Given the description of an element on the screen output the (x, y) to click on. 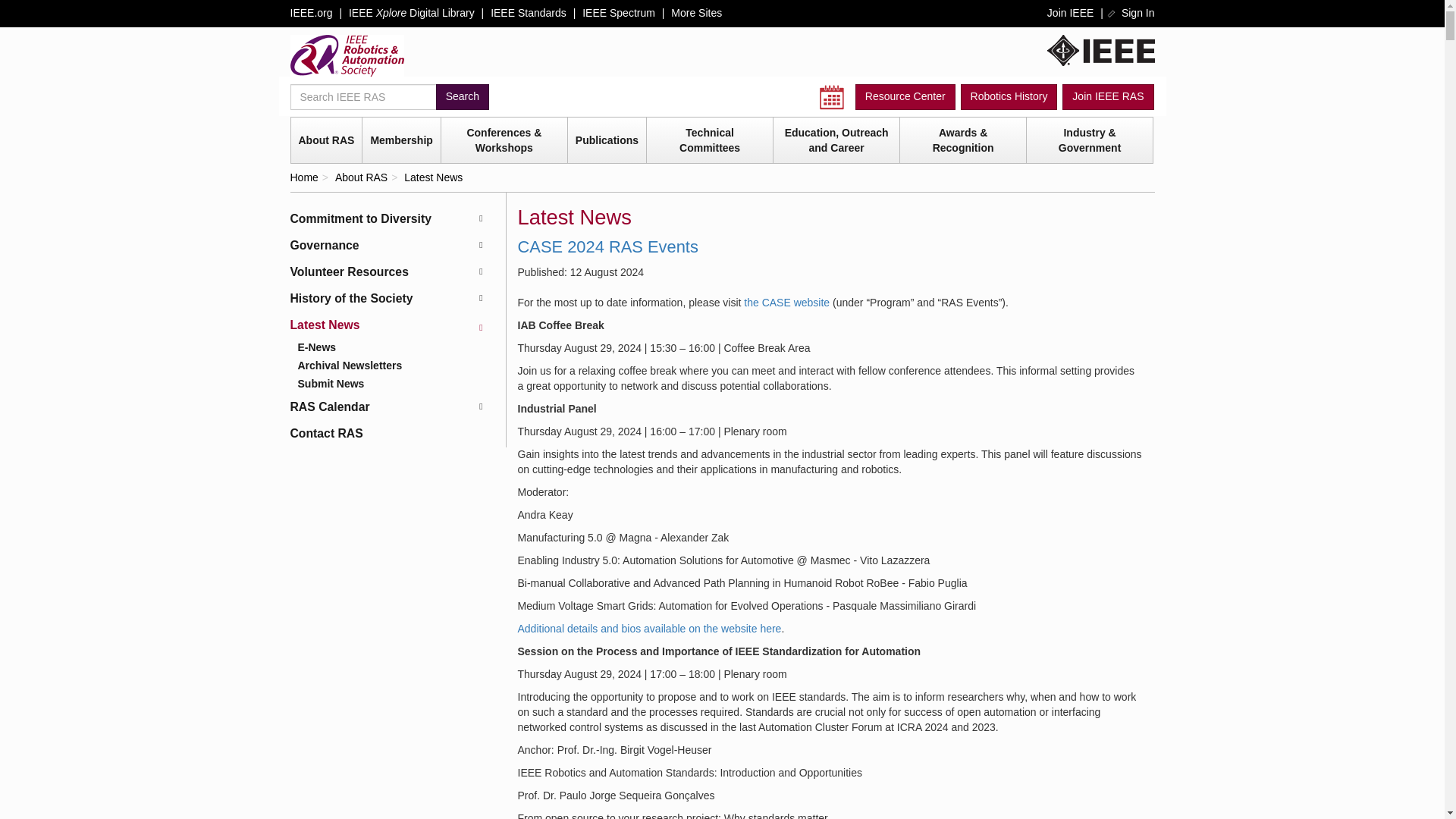
IEEE Xplore Digital Library (411, 12)
Join IEEE (1069, 12)
IEEE.org (310, 12)
Join IEEE RAS (1107, 96)
IEEE.org (310, 12)
IEEE Standards (528, 12)
IEEE Standards (528, 12)
IEEE Spectrum (618, 12)
IEEE.org (1100, 50)
More Sites (696, 12)
